Given the description of an element on the screen output the (x, y) to click on. 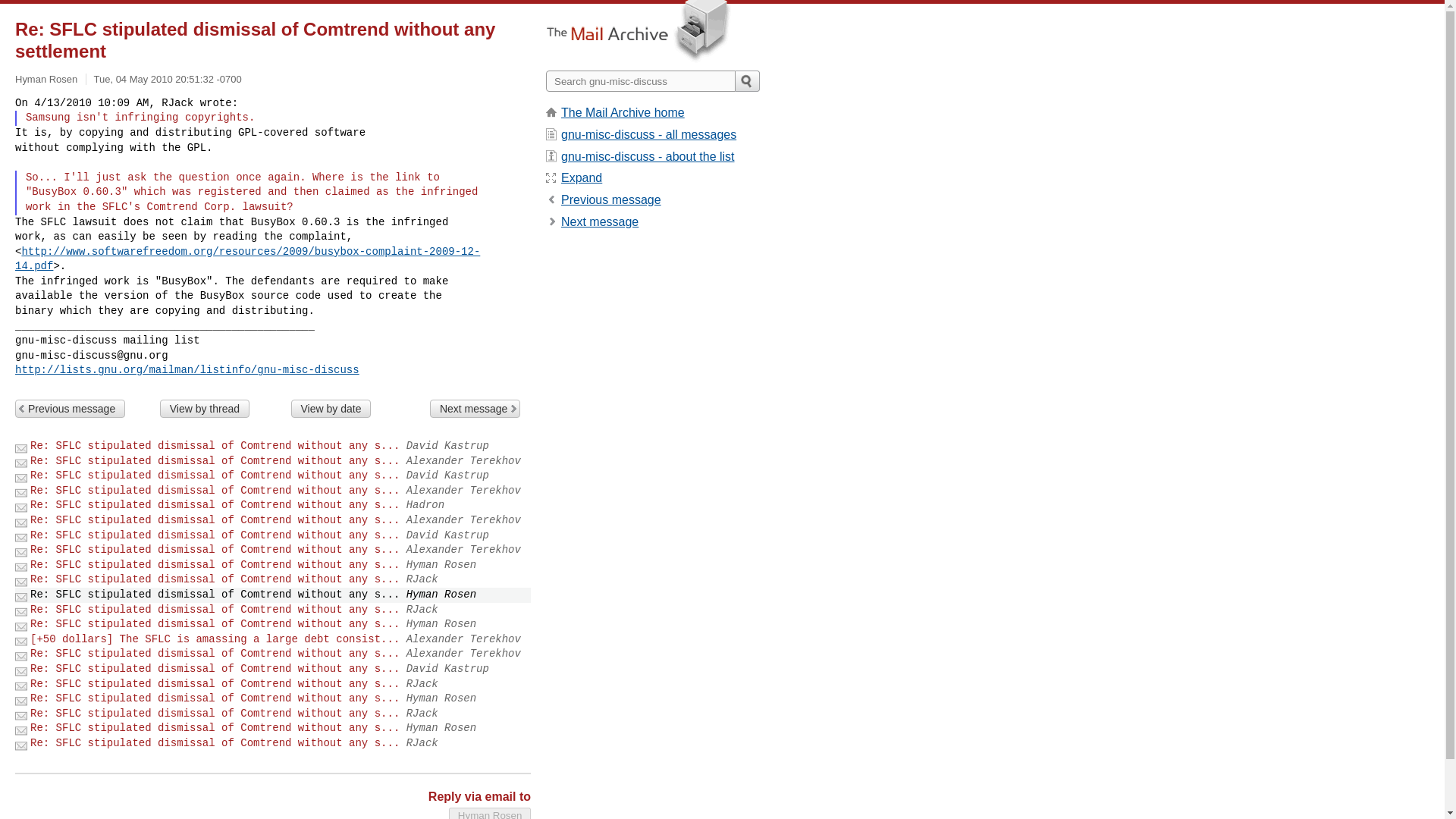
Re: SFLC stipulated dismissal of Comtrend without any s... (214, 445)
Re: SFLC stipulated dismissal of Comtrend without any s... (214, 653)
View by date (331, 408)
 Hyman Rosen  (489, 813)
Re: SFLC stipulated dismissal of Comtrend without any s... (214, 609)
Re: SFLC stipulated dismissal of Comtrend without any s... (214, 684)
Next message (474, 408)
Re: SFLC stipulated dismissal of Comtrend without any s... (214, 743)
Re: SFLC stipulated dismissal of Comtrend without any s... (214, 549)
 Hyman Rosen  (489, 813)
